Given the description of an element on the screen output the (x, y) to click on. 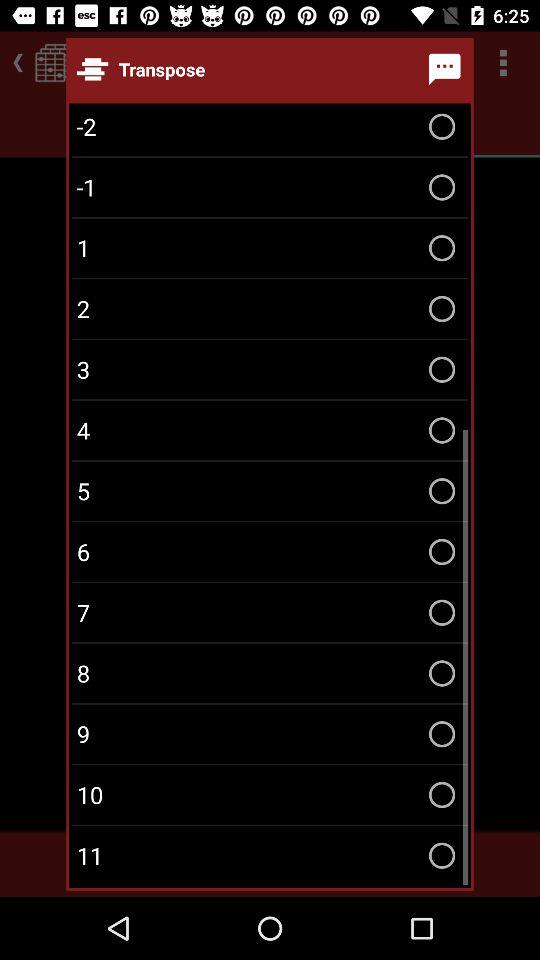
press item above 4 item (269, 369)
